Given the description of an element on the screen output the (x, y) to click on. 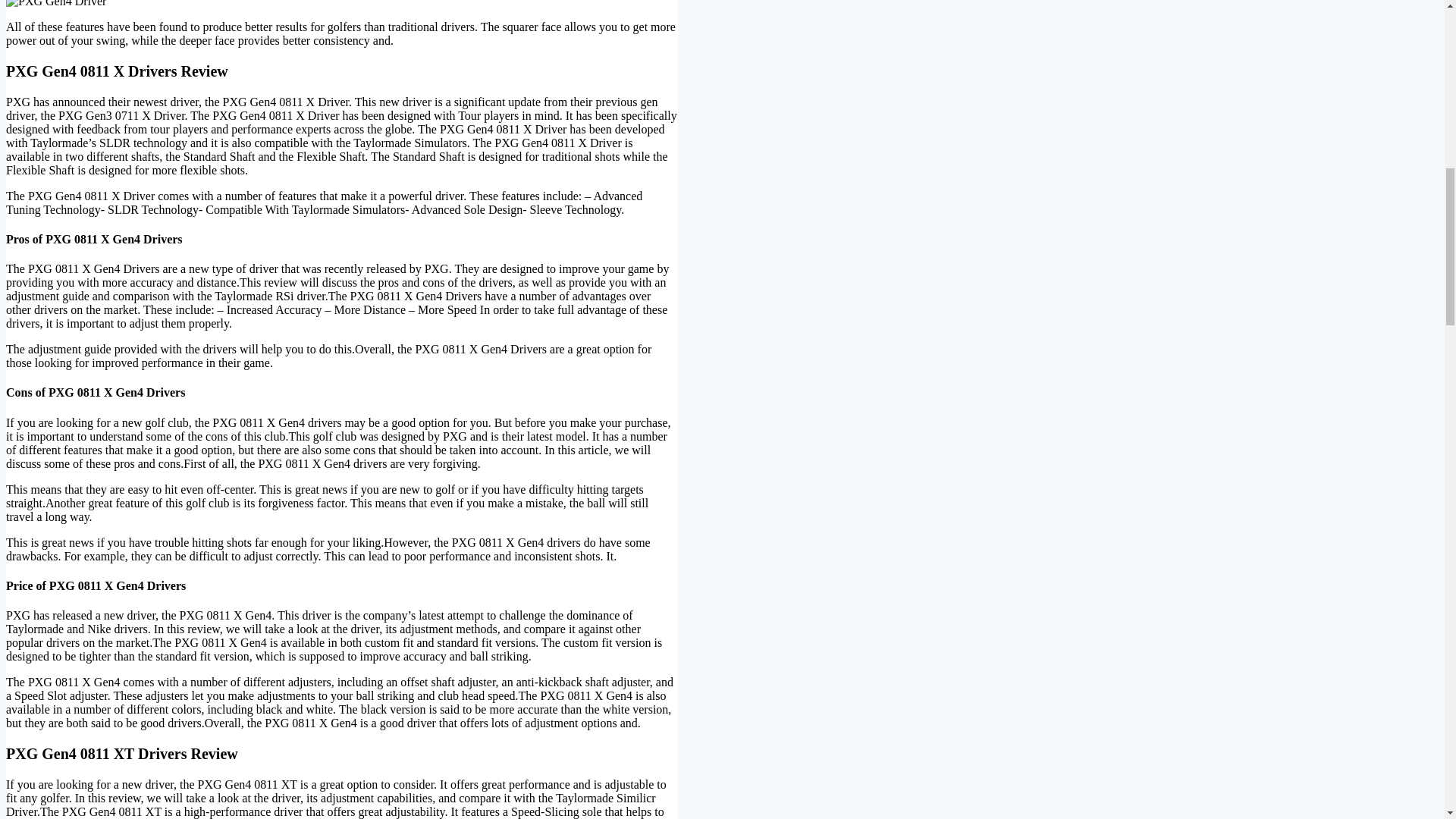
Scroll back to top (1406, 720)
